Given the description of an element on the screen output the (x, y) to click on. 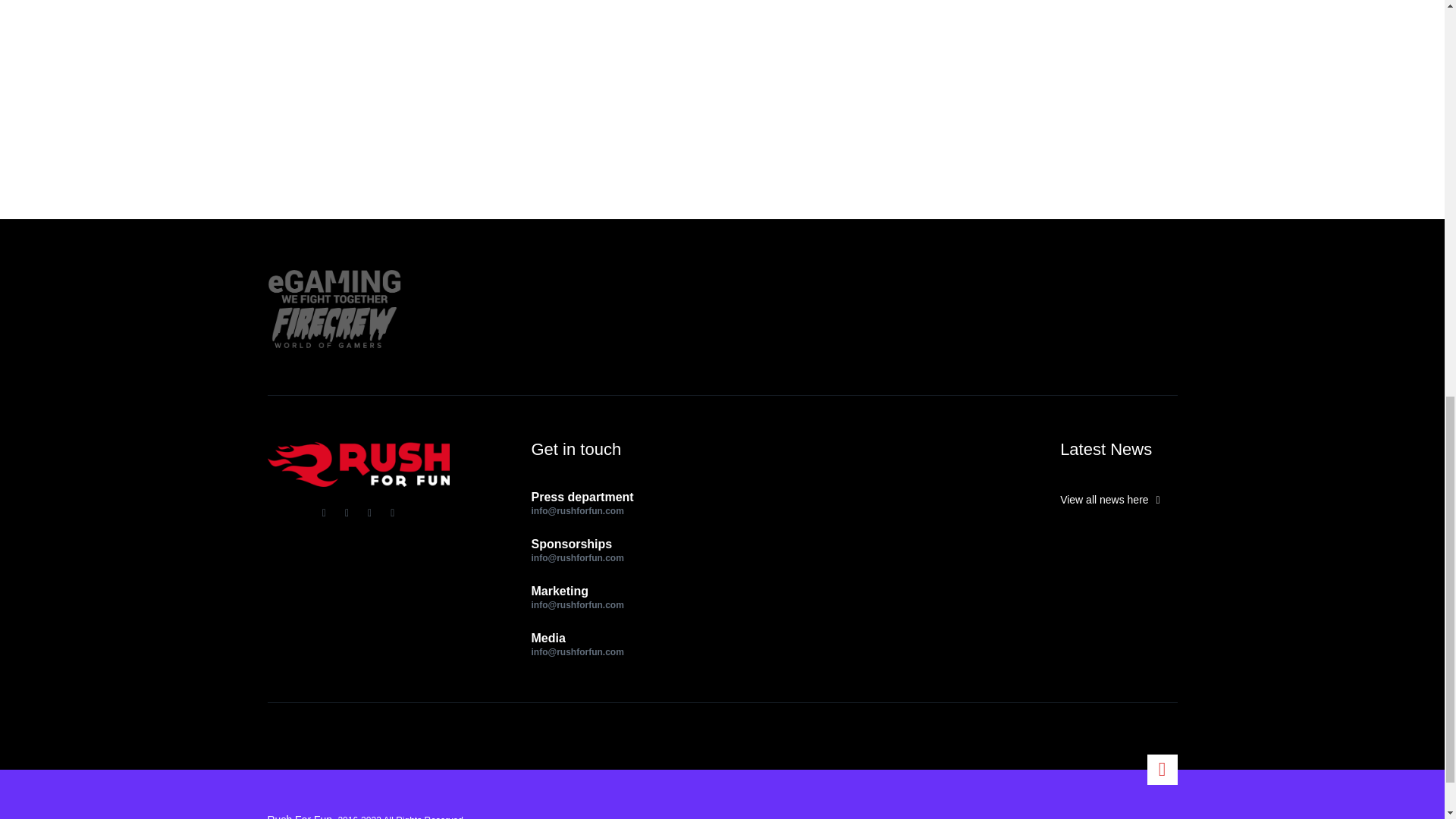
Rush For Fun (298, 816)
View all news here (1117, 500)
